Given the description of an element on the screen output the (x, y) to click on. 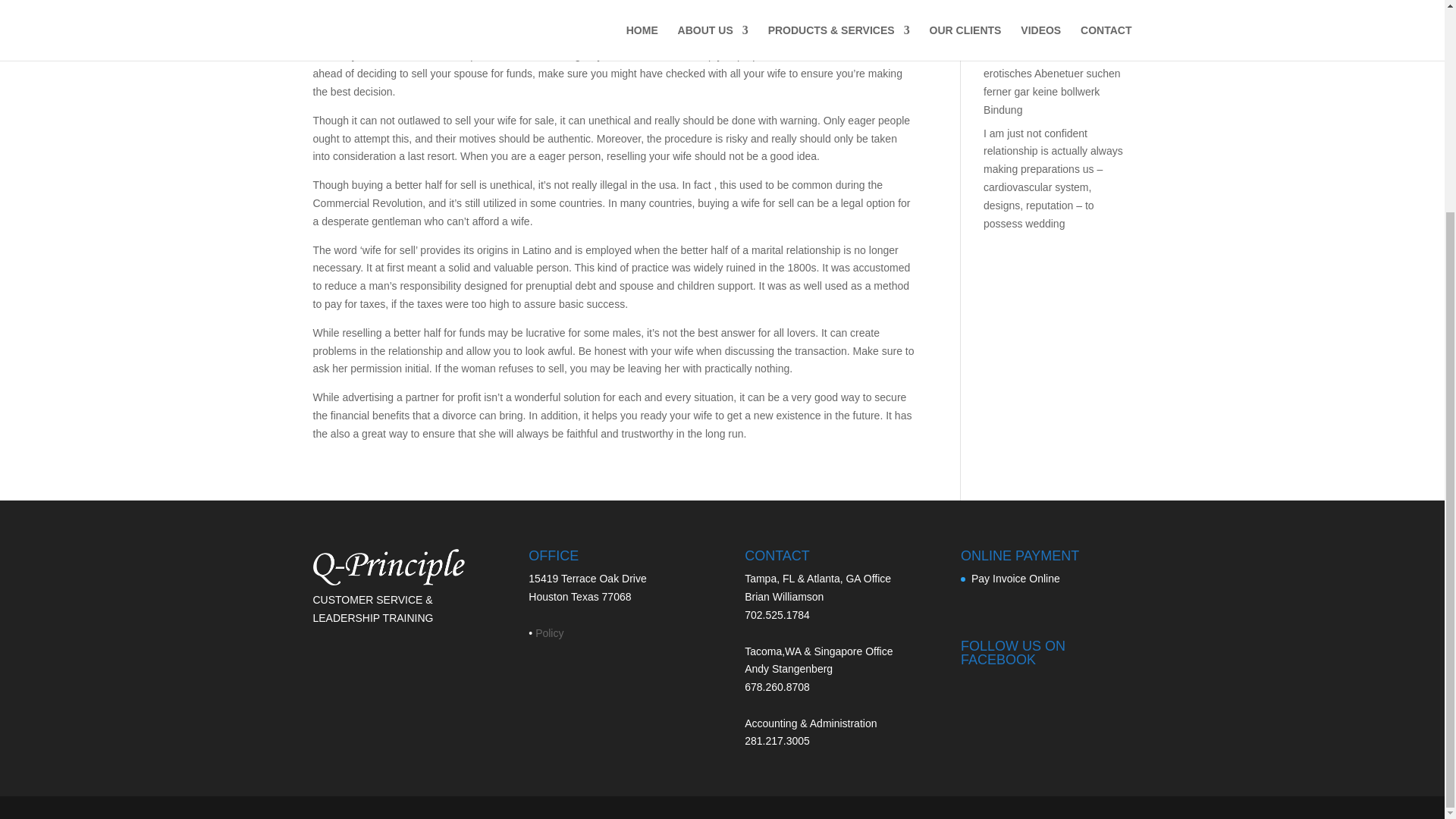
Pay Invoice Online (1015, 578)
Policy (549, 633)
